Given the description of an element on the screen output the (x, y) to click on. 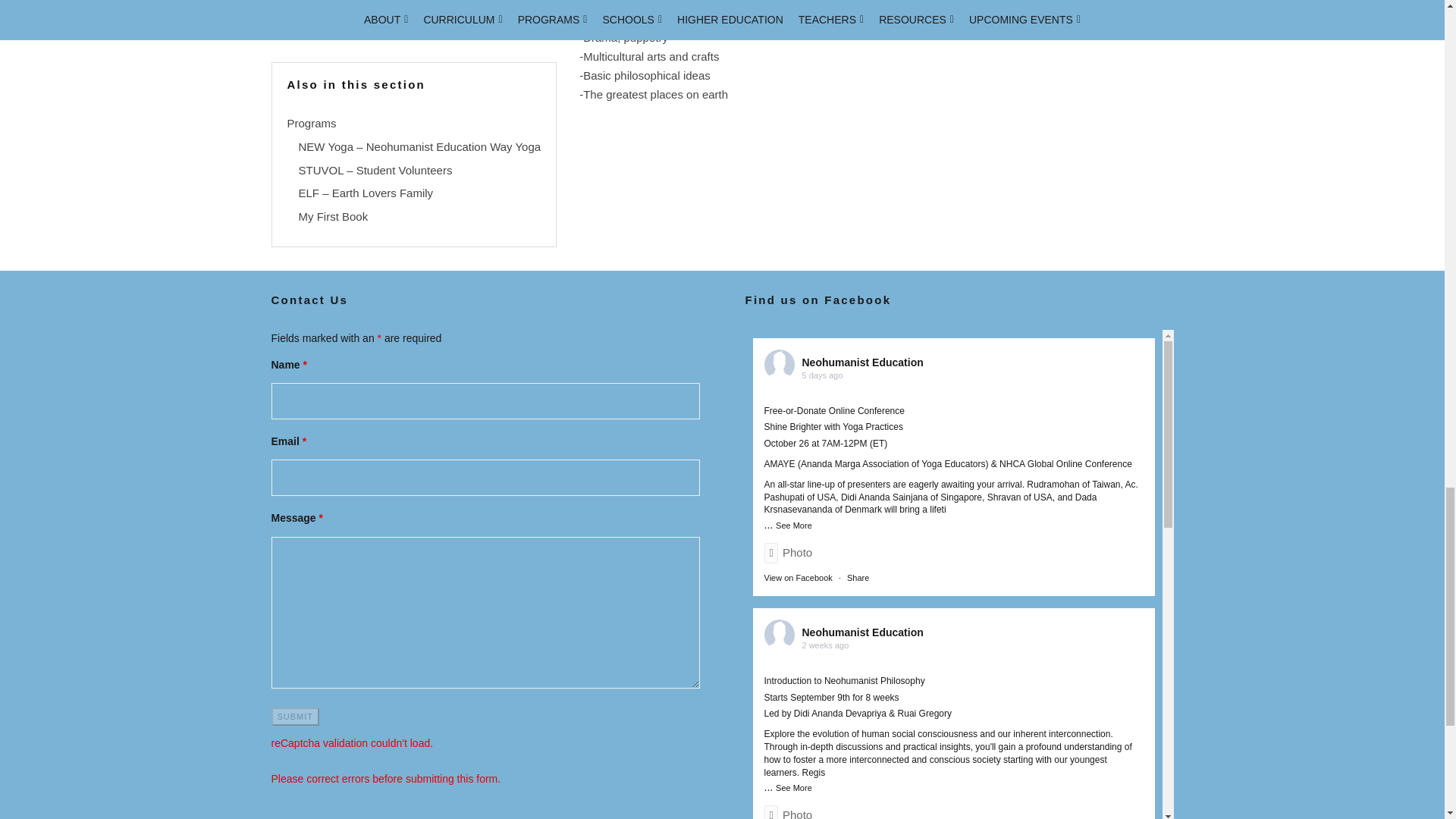
View on Facebook (798, 577)
Share (858, 577)
Submit (295, 716)
